Given the description of an element on the screen output the (x, y) to click on. 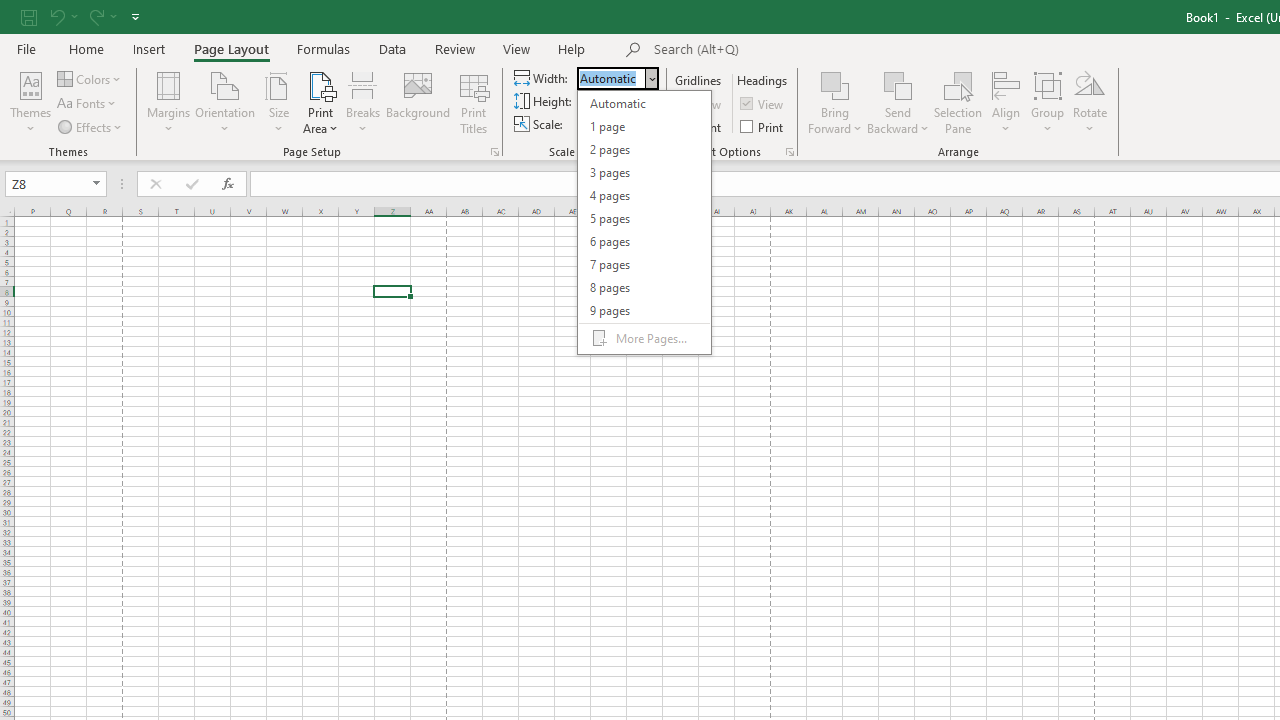
Margins (168, 102)
Colors (90, 78)
System (10, 11)
Send Backward (898, 84)
Microsoft search (792, 49)
View (517, 48)
6 pages (644, 240)
Redo (95, 15)
Undo (62, 15)
Scale (605, 124)
Print Titles (474, 102)
5 pages (644, 218)
Less (633, 129)
Group (1047, 102)
Open (96, 183)
